Given the description of an element on the screen output the (x, y) to click on. 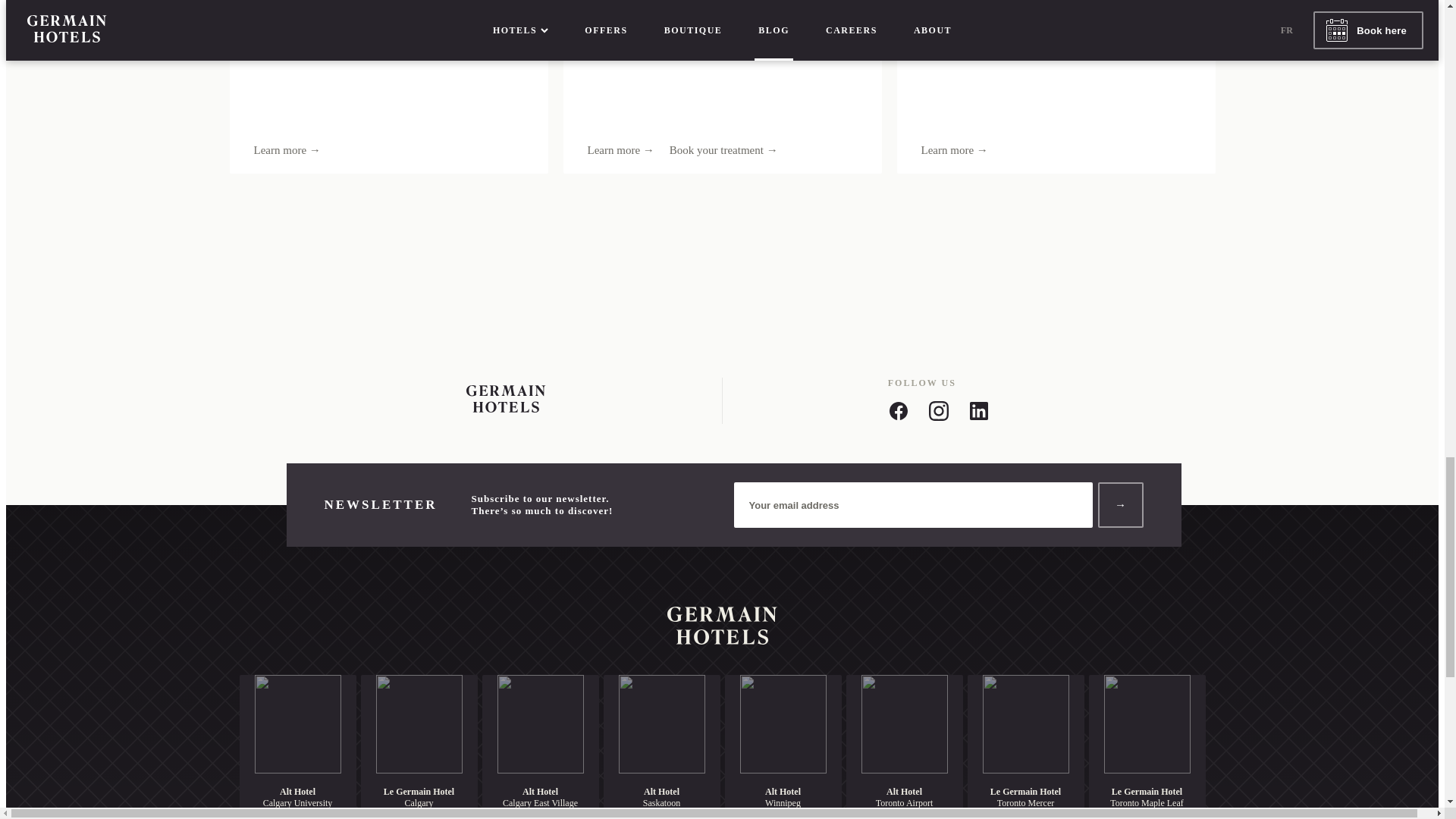
Learn more (619, 150)
Book your treatment (723, 150)
Learn more (286, 150)
Learn more (953, 150)
